Given the description of an element on the screen output the (x, y) to click on. 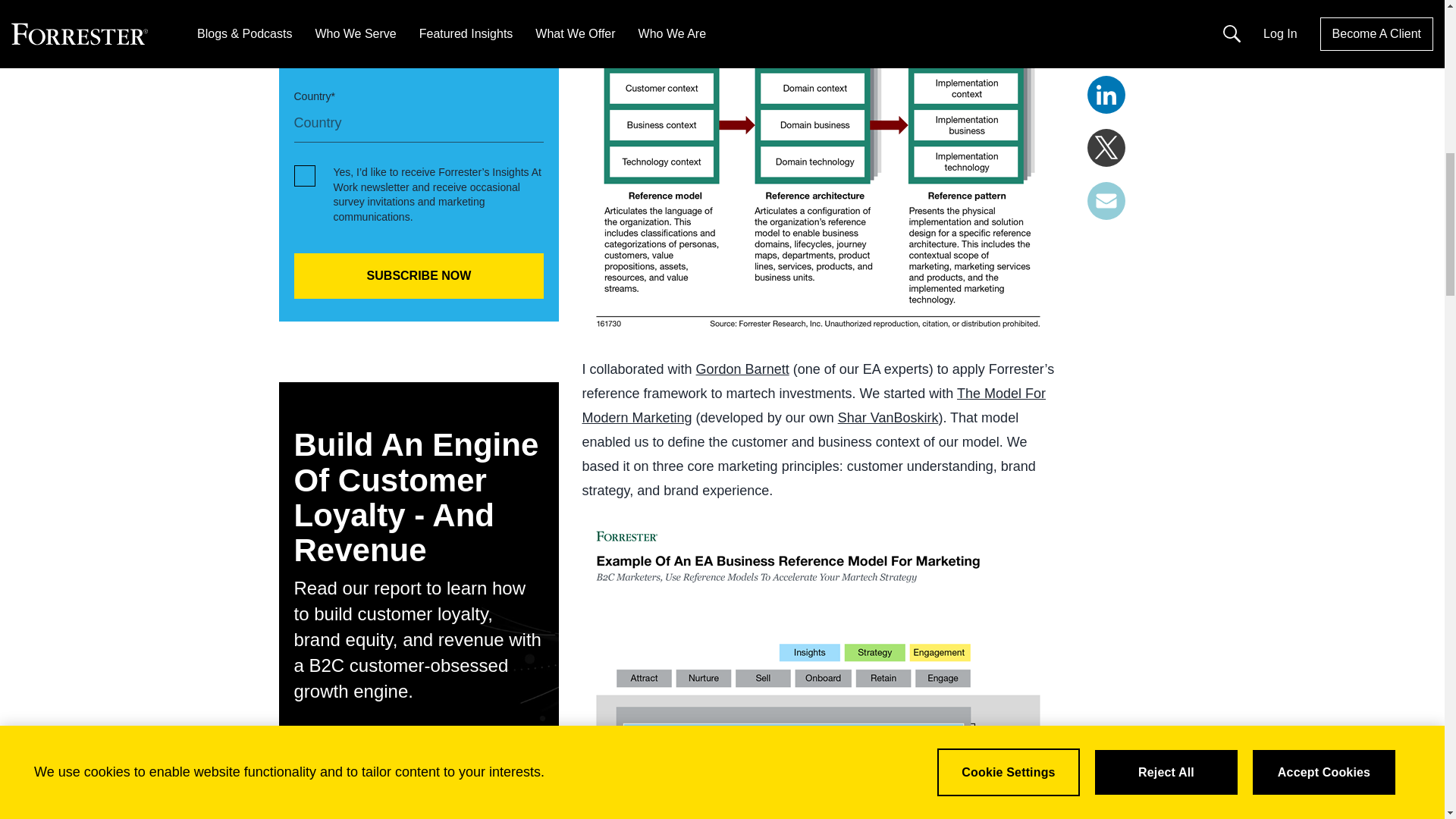
Subscribe Now (419, 275)
